Given the description of an element on the screen output the (x, y) to click on. 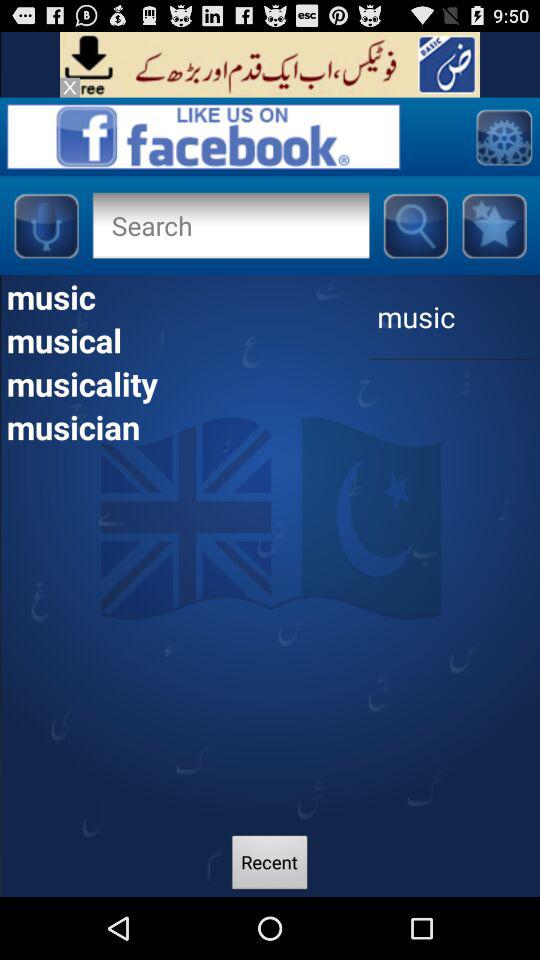
like on facebook (203, 136)
